Given the description of an element on the screen output the (x, y) to click on. 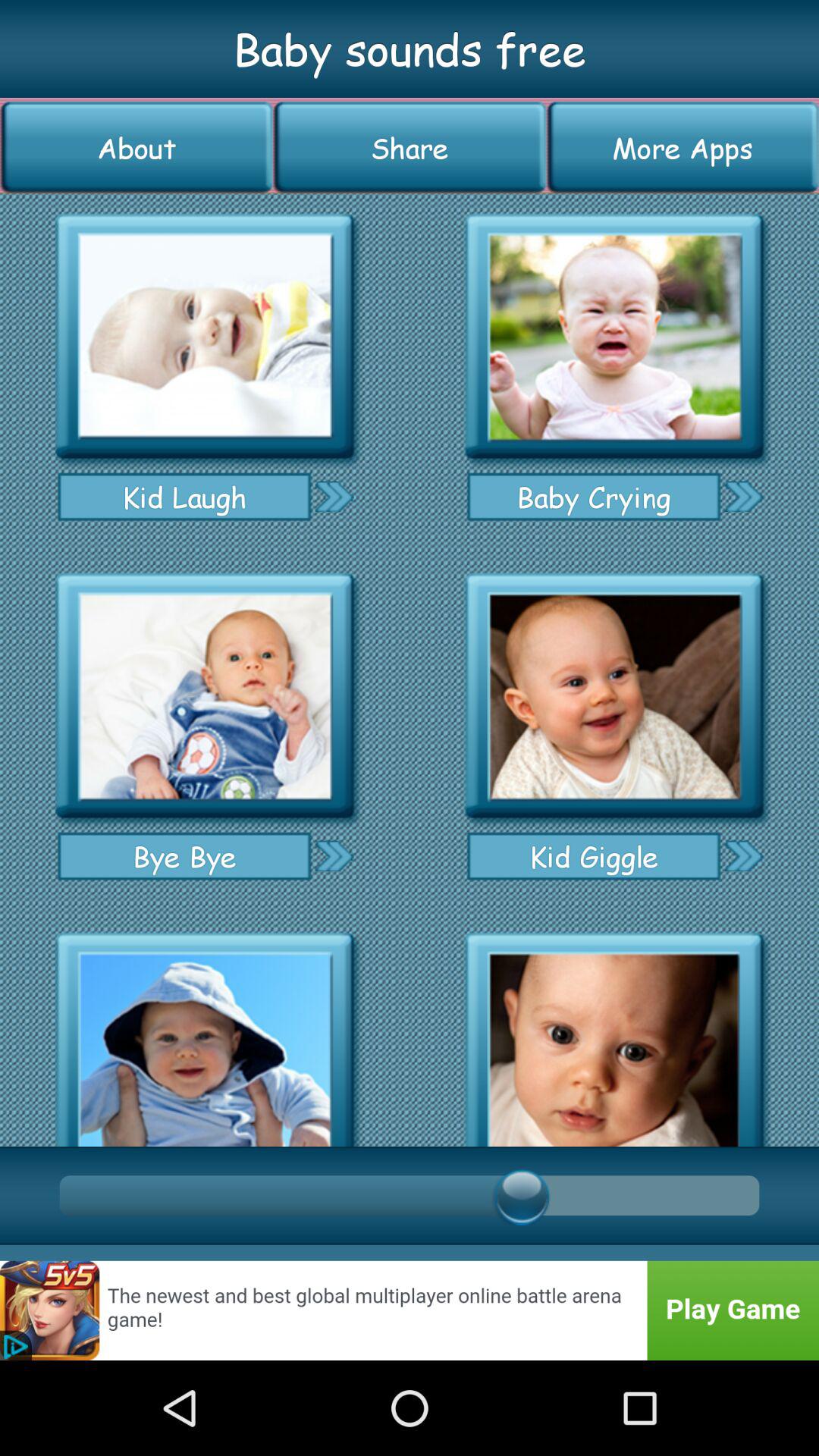
choose option (333, 496)
